Given the description of an element on the screen output the (x, y) to click on. 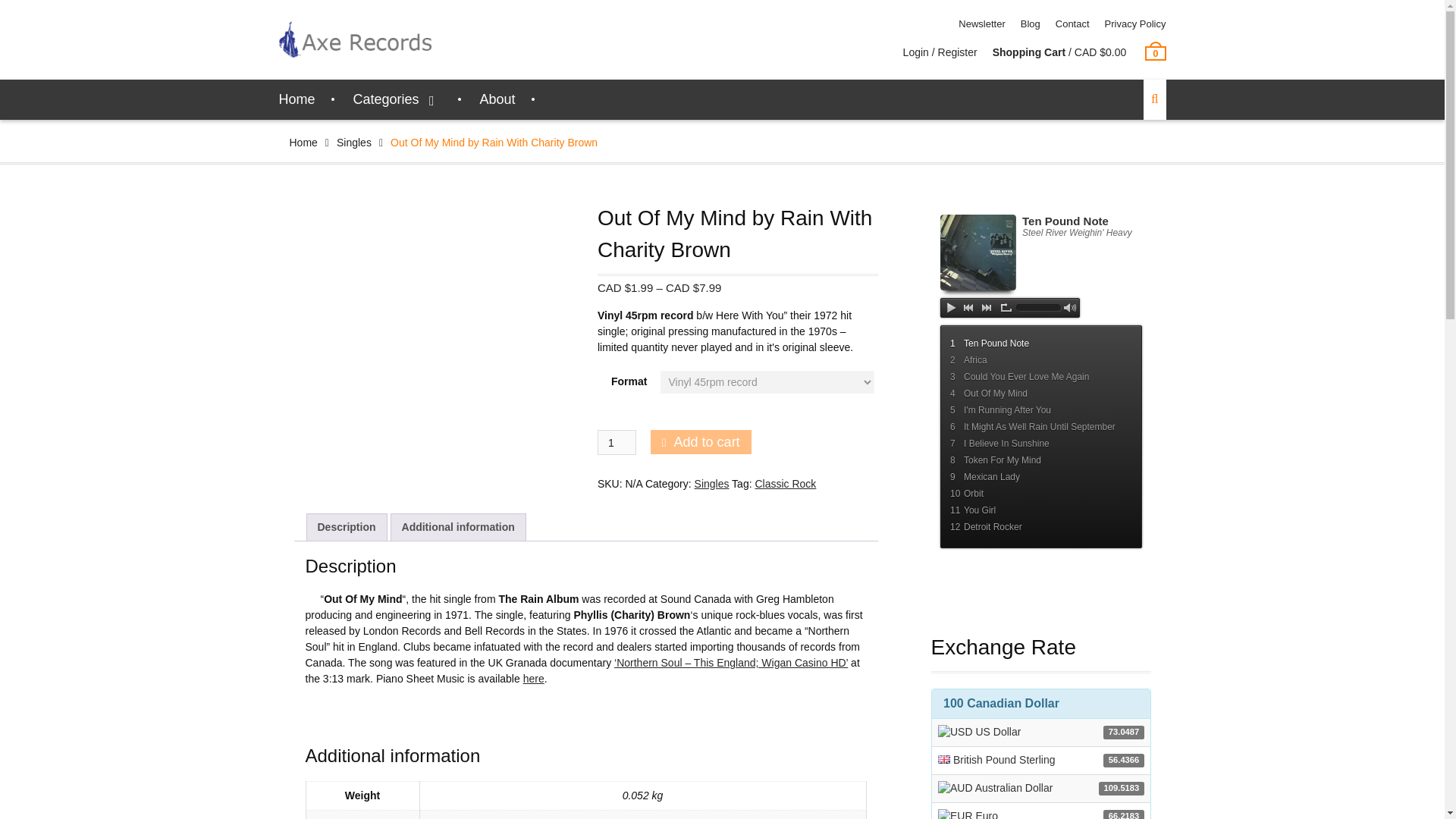
1 (616, 442)
Newsletter (981, 24)
Description (346, 527)
Blog (1030, 24)
Categories (397, 98)
Add to cart (700, 441)
Singles (711, 483)
Home (297, 98)
Additional information (458, 527)
Classic Rock (784, 483)
